Given the description of an element on the screen output the (x, y) to click on. 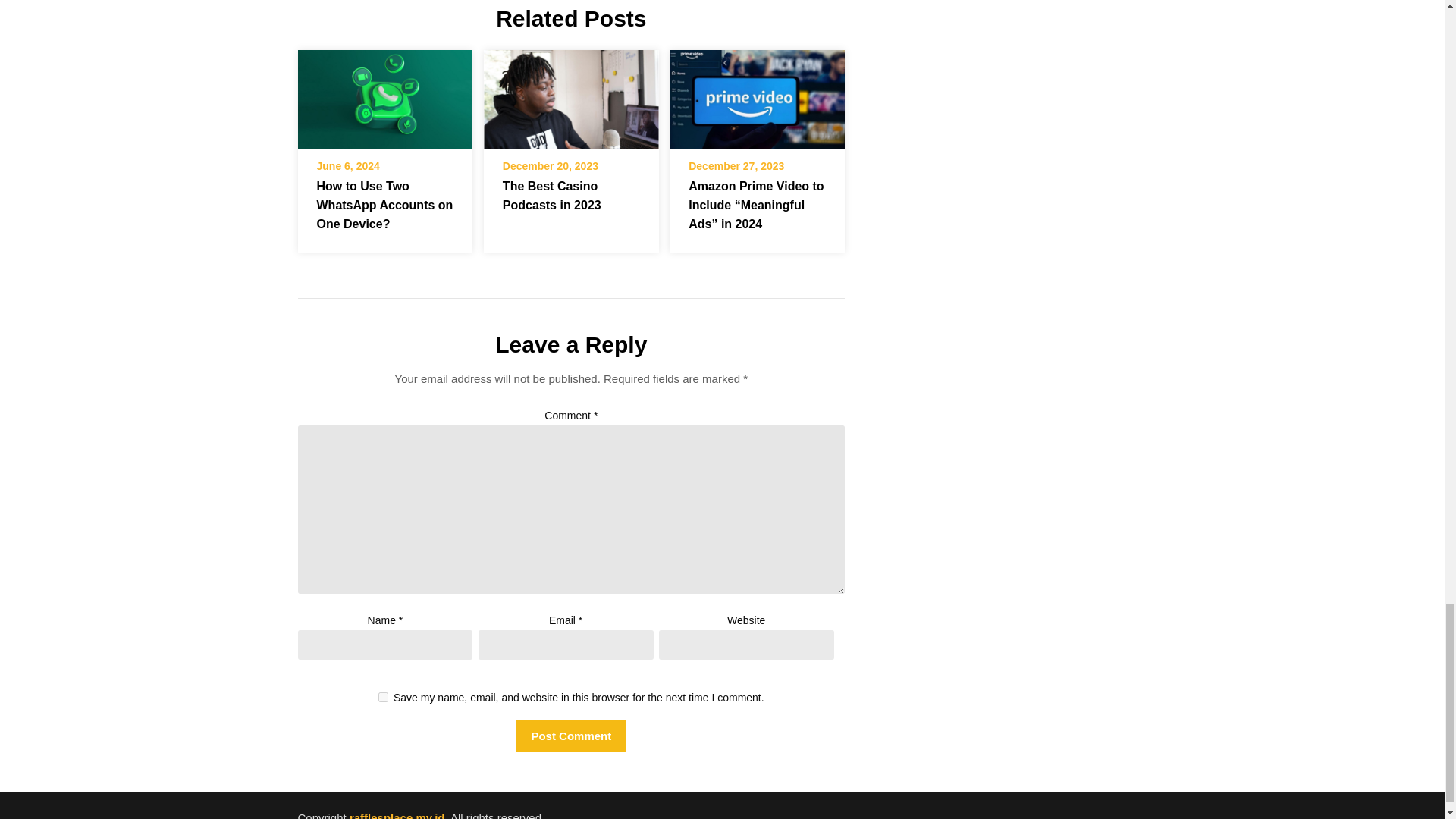
How to Use Two WhatsApp Accounts on One Device? (384, 98)
How to Use Two WhatsApp Accounts on One Device? (384, 204)
How to Use Two WhatsApp Accounts on One Device? (384, 93)
yes (383, 696)
The Best Casino Podcasts in 2023 (571, 93)
The Best Casino Podcasts in 2023 (571, 98)
The Best Casino Podcasts in 2023 (551, 195)
Post Comment (570, 735)
Post Comment (570, 735)
